Given the description of an element on the screen output the (x, y) to click on. 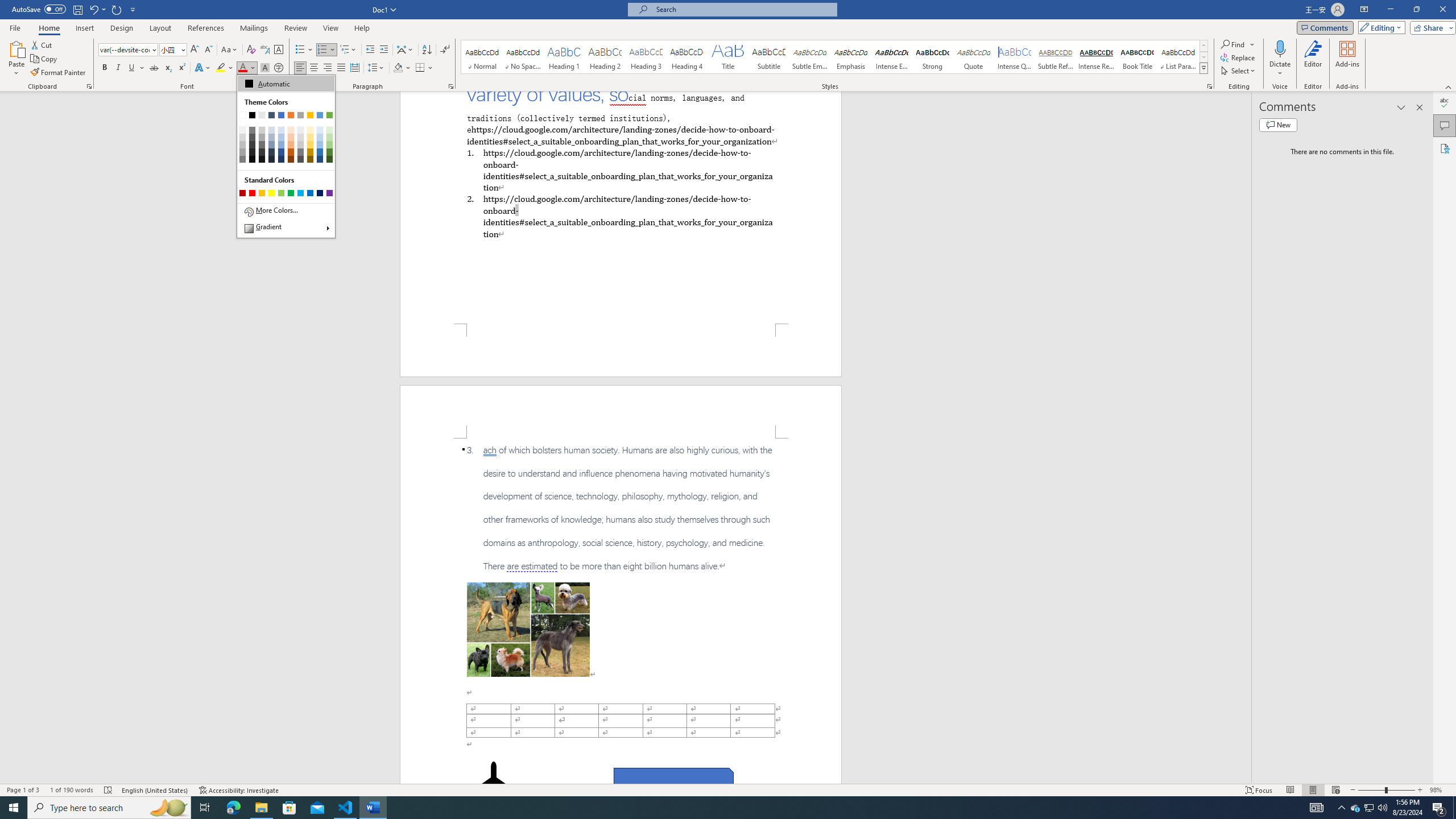
Repeat Underline Style (117, 9)
Undo Paragraph Alignment (92, 9)
Microsoft Edge (233, 807)
Emphasis (849, 56)
1. (620, 169)
